Given the description of an element on the screen output the (x, y) to click on. 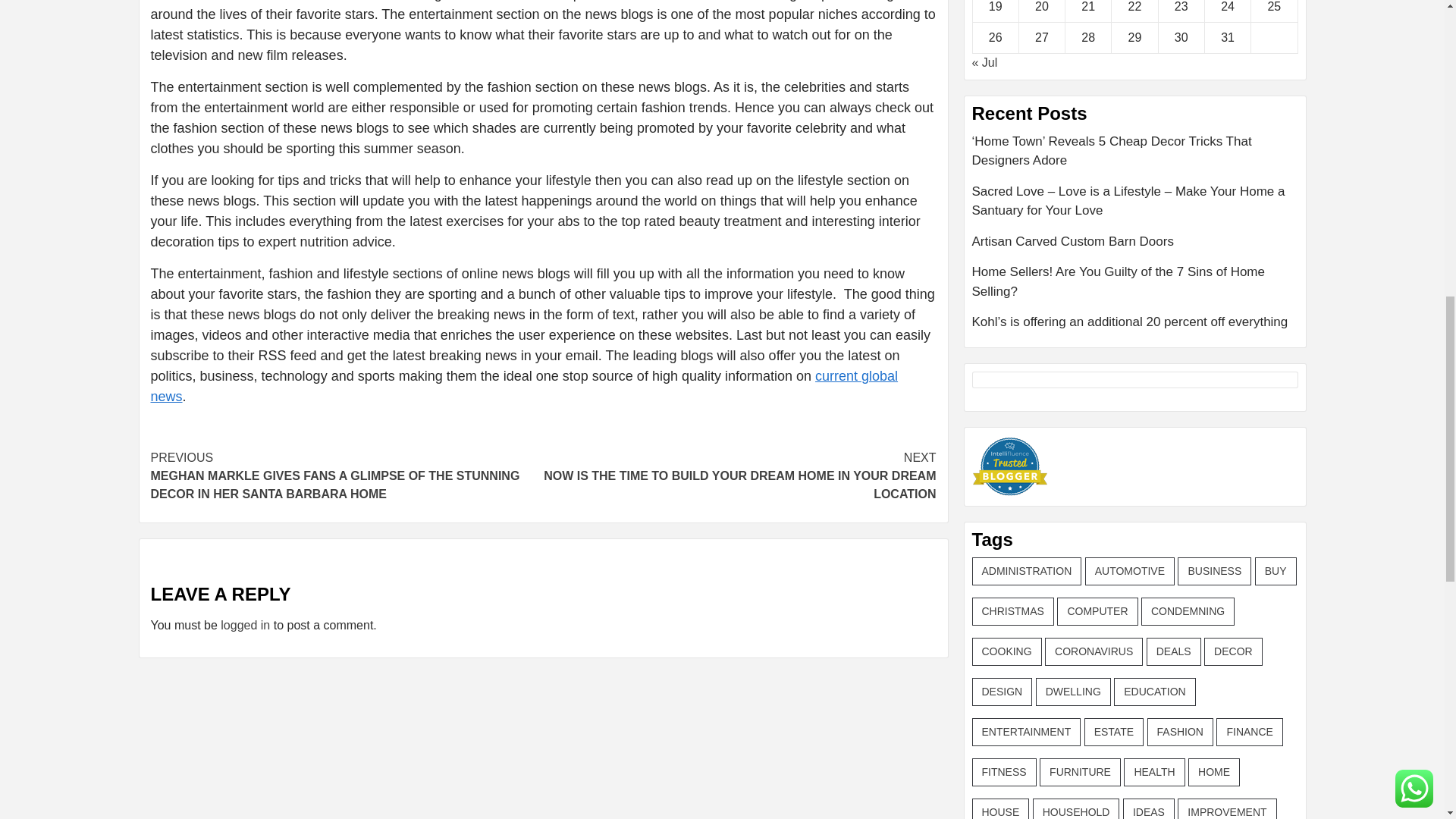
Home Sellers! Are You Guilty of the 7 Sins of Home Selling? (1135, 287)
logged in (245, 625)
current global news (523, 386)
ADMINISTRATION (1026, 571)
Artisan Carved Custom Barn Doors (1135, 246)
